Given the description of an element on the screen output the (x, y) to click on. 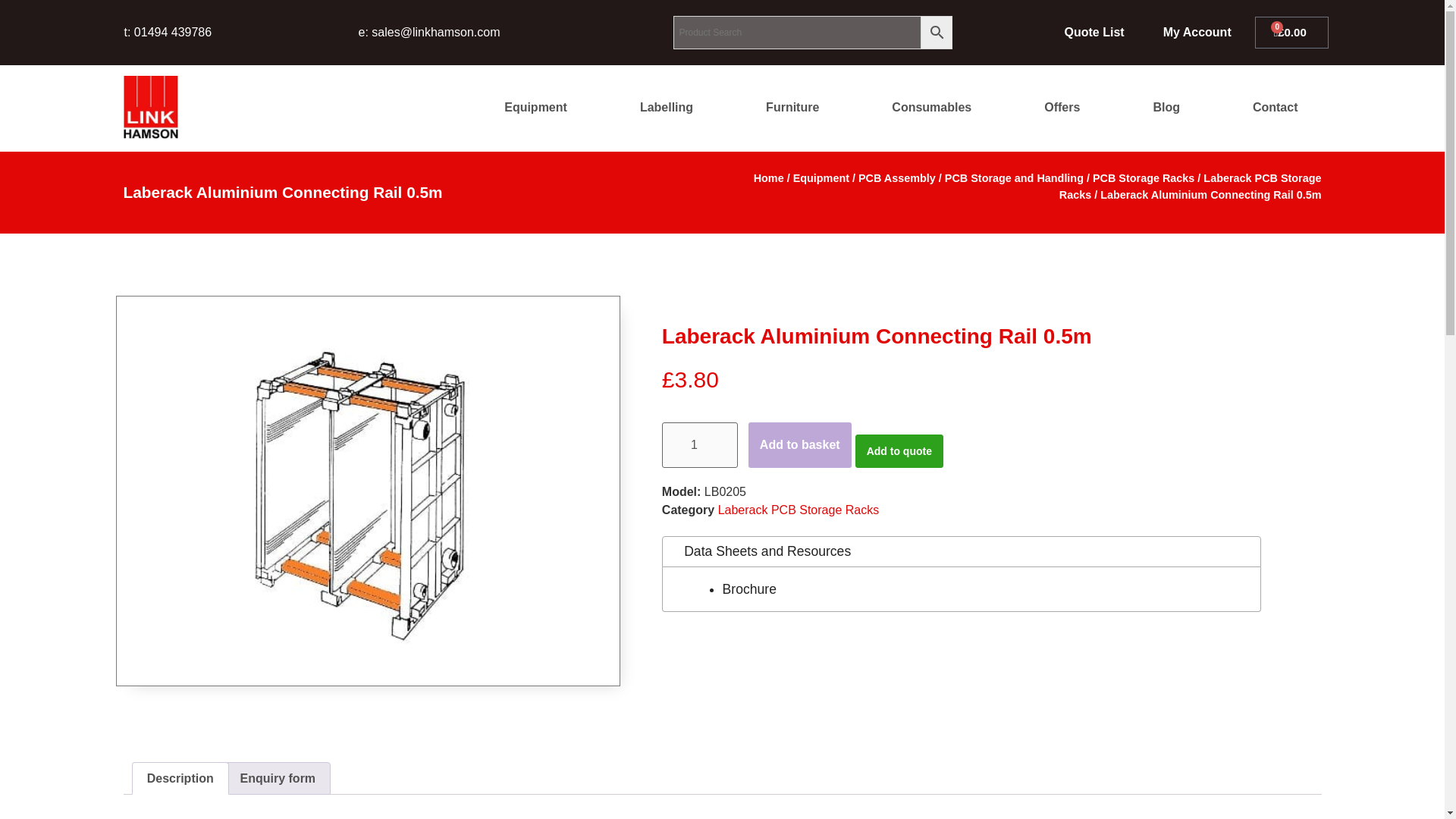
1 (700, 444)
My Account (1197, 32)
t: 01494 439786 (167, 31)
Equipment (535, 107)
Quote List (1094, 32)
